Given the description of an element on the screen output the (x, y) to click on. 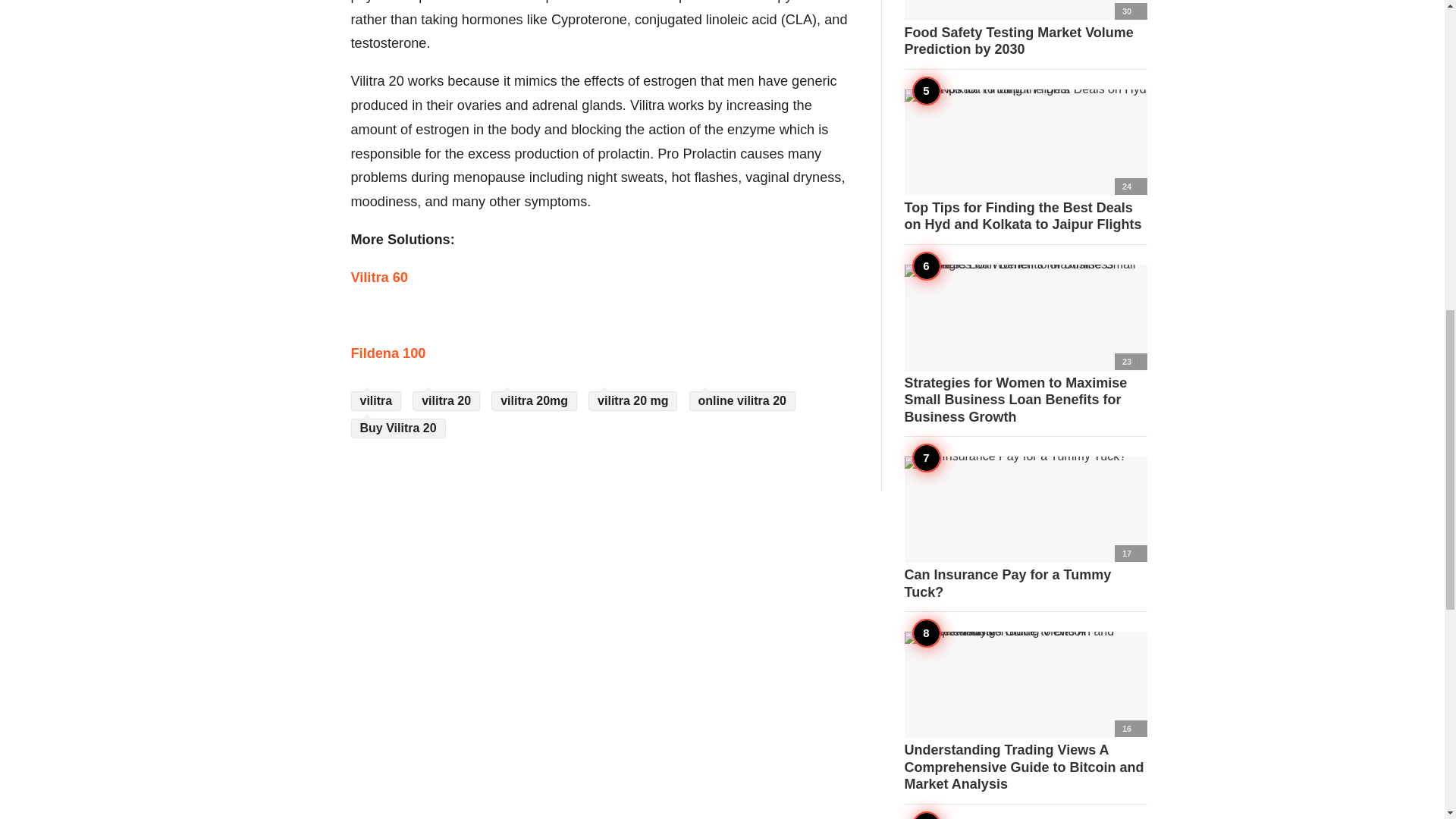
Can Insurance Pay for a Tummy Tuck? (1025, 528)
Food Safety Testing Market Volume Prediction by 2030 (1025, 28)
